Given the description of an element on the screen output the (x, y) to click on. 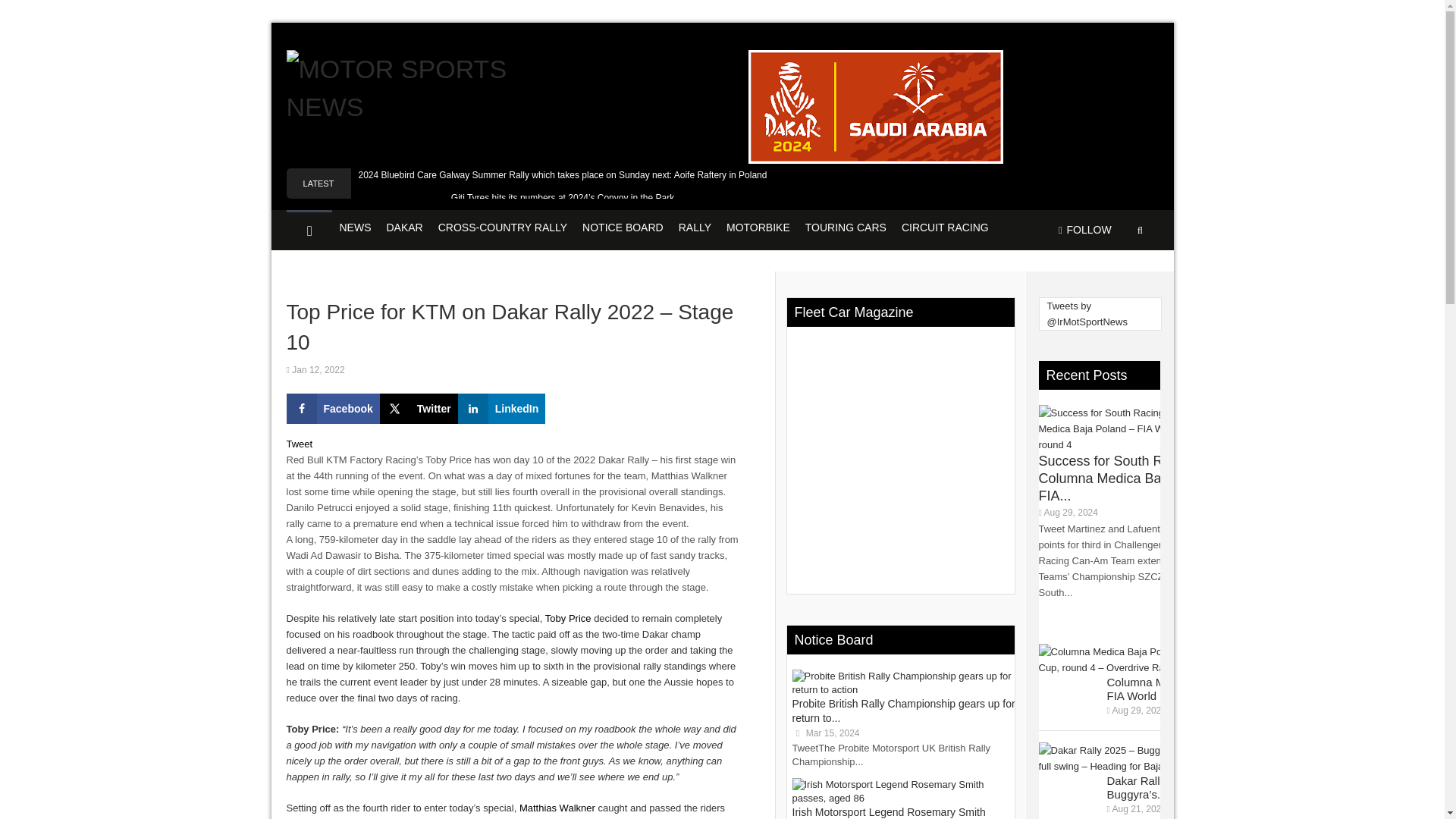
CROSS-COUNTRY RALLY (502, 228)
TOURING CARS (845, 228)
Facebook (333, 408)
RALLY (695, 228)
FOLLOW (1084, 229)
Matthias Walkner (557, 808)
DAKAR (404, 228)
NOTICE BOARD (623, 228)
CIRCUIT RACING (944, 228)
